Given the description of an element on the screen output the (x, y) to click on. 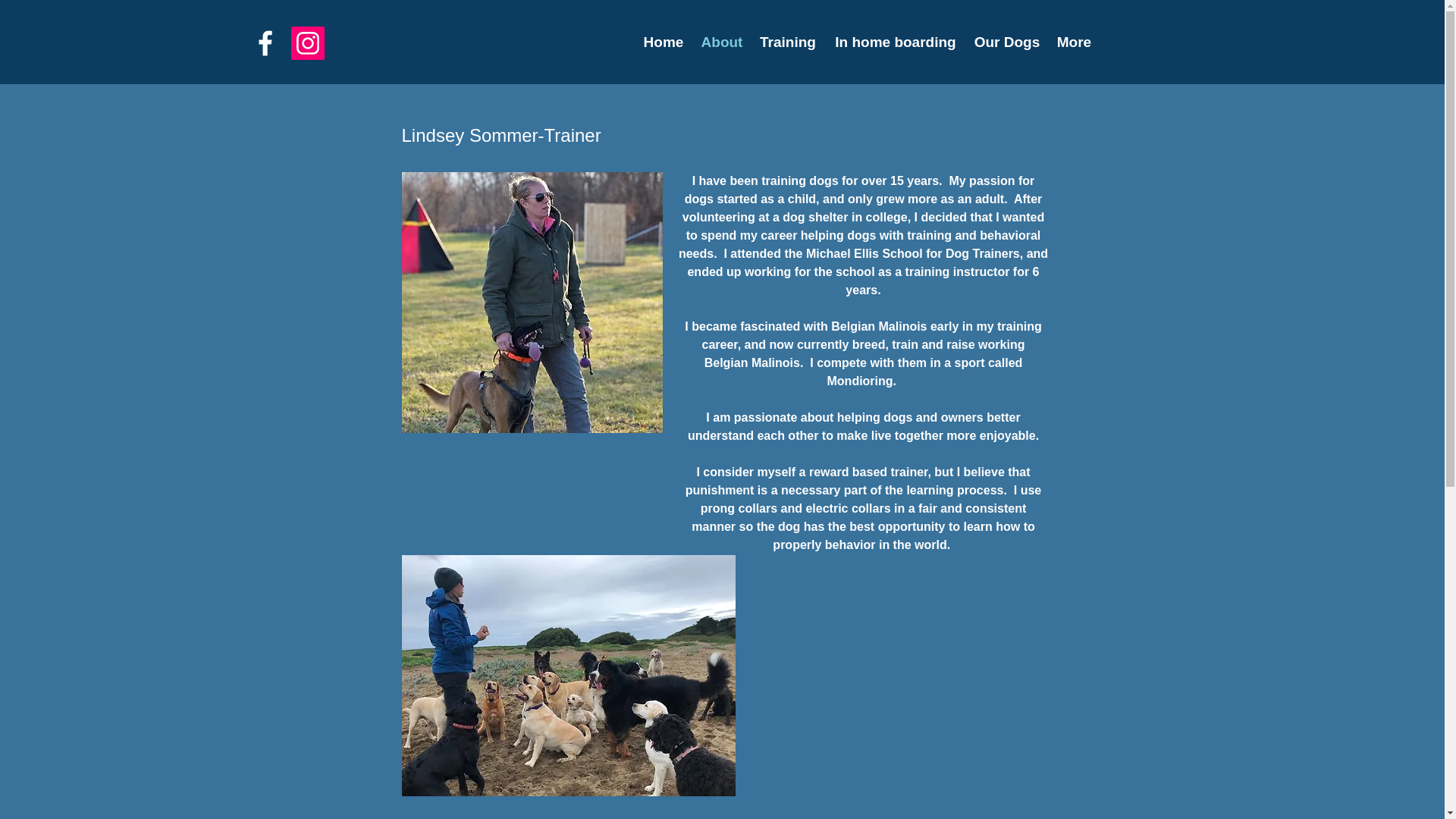
Training (787, 41)
Home (663, 41)
In home boarding (895, 41)
About (722, 41)
Our Dogs (1006, 41)
